Given the description of an element on the screen output the (x, y) to click on. 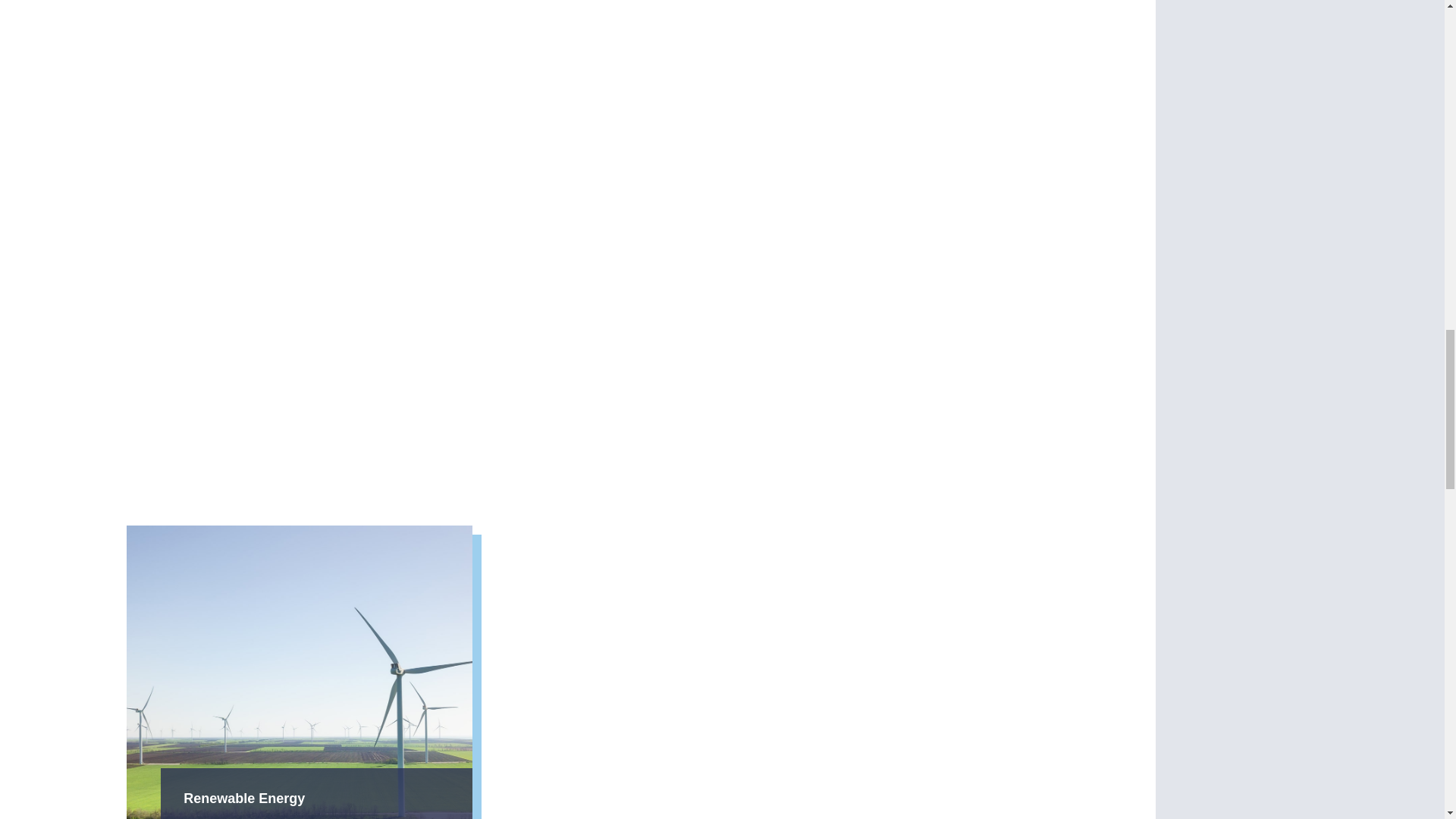
Renewable Energy (243, 797)
